Given the description of an element on the screen output the (x, y) to click on. 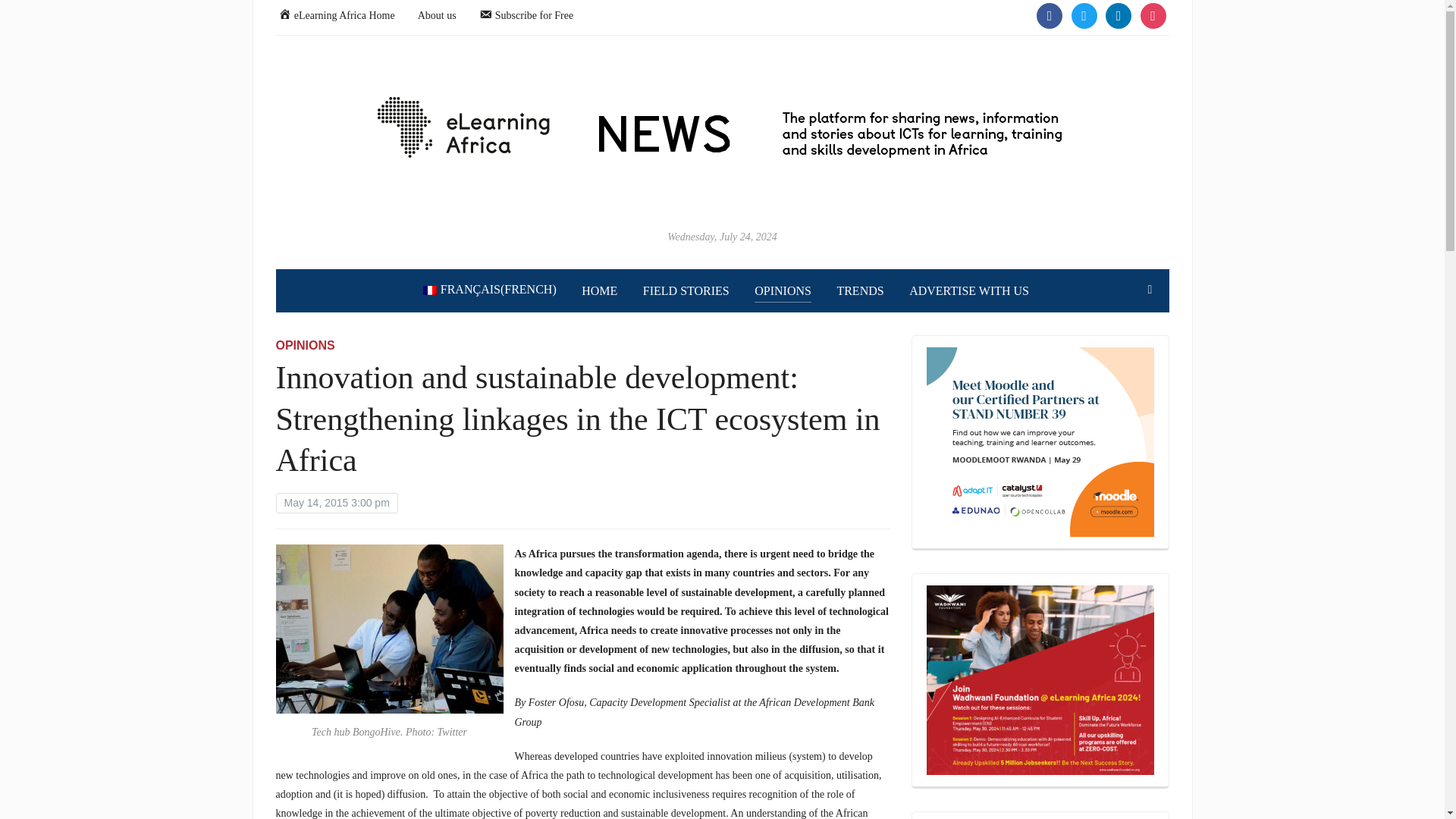
Search (1149, 289)
Default Label (1153, 14)
OPINIONS (782, 291)
TRENDS (859, 291)
Instagram (1118, 14)
Facebook (1049, 14)
ADVERTISE WITH US (968, 291)
OPINIONS (305, 345)
HOME (598, 291)
facebook (1049, 14)
Twitter (1083, 14)
eLearning Africa Home (336, 14)
About us (437, 14)
Subscribe for Free (526, 14)
linkedin (1118, 14)
